Given the description of an element on the screen output the (x, y) to click on. 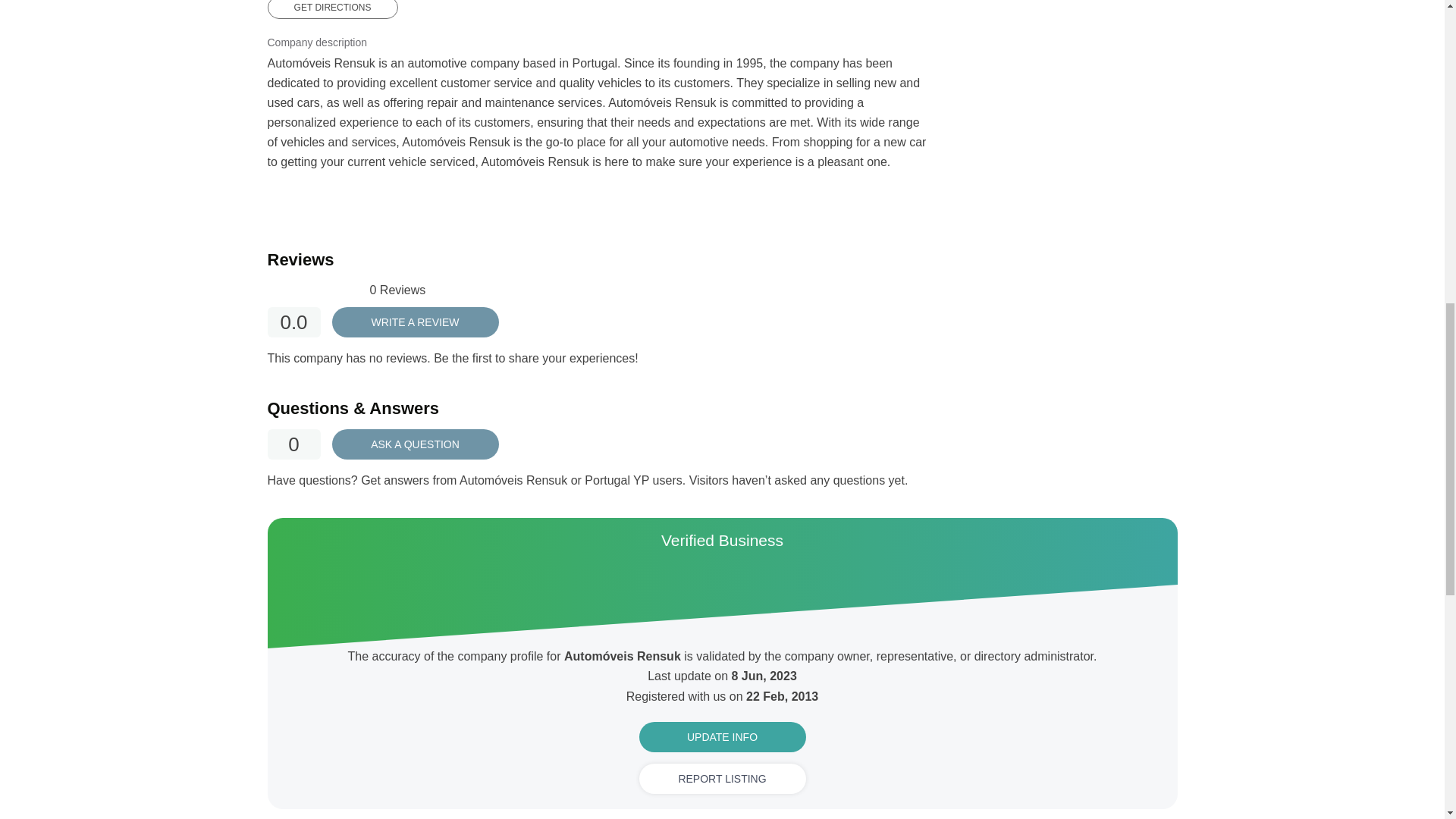
ASK A QUESTION (415, 444)
Advertisement (1062, 17)
WRITE A REVIEW (415, 322)
UPDATE INFO (722, 736)
REPORT LISTING (722, 778)
GET DIRECTIONS (331, 9)
